Given the description of an element on the screen output the (x, y) to click on. 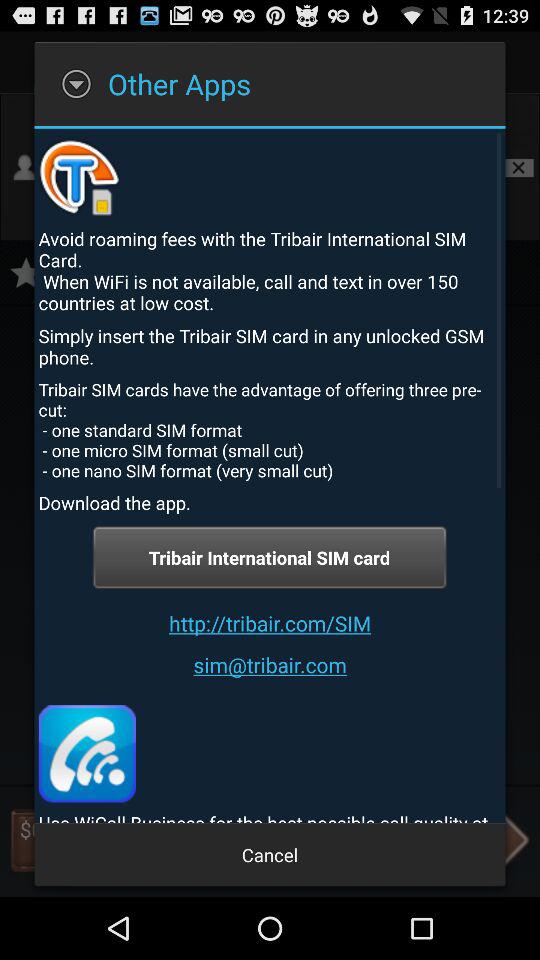
choose icon at the bottom left corner (86, 753)
